Given the description of an element on the screen output the (x, y) to click on. 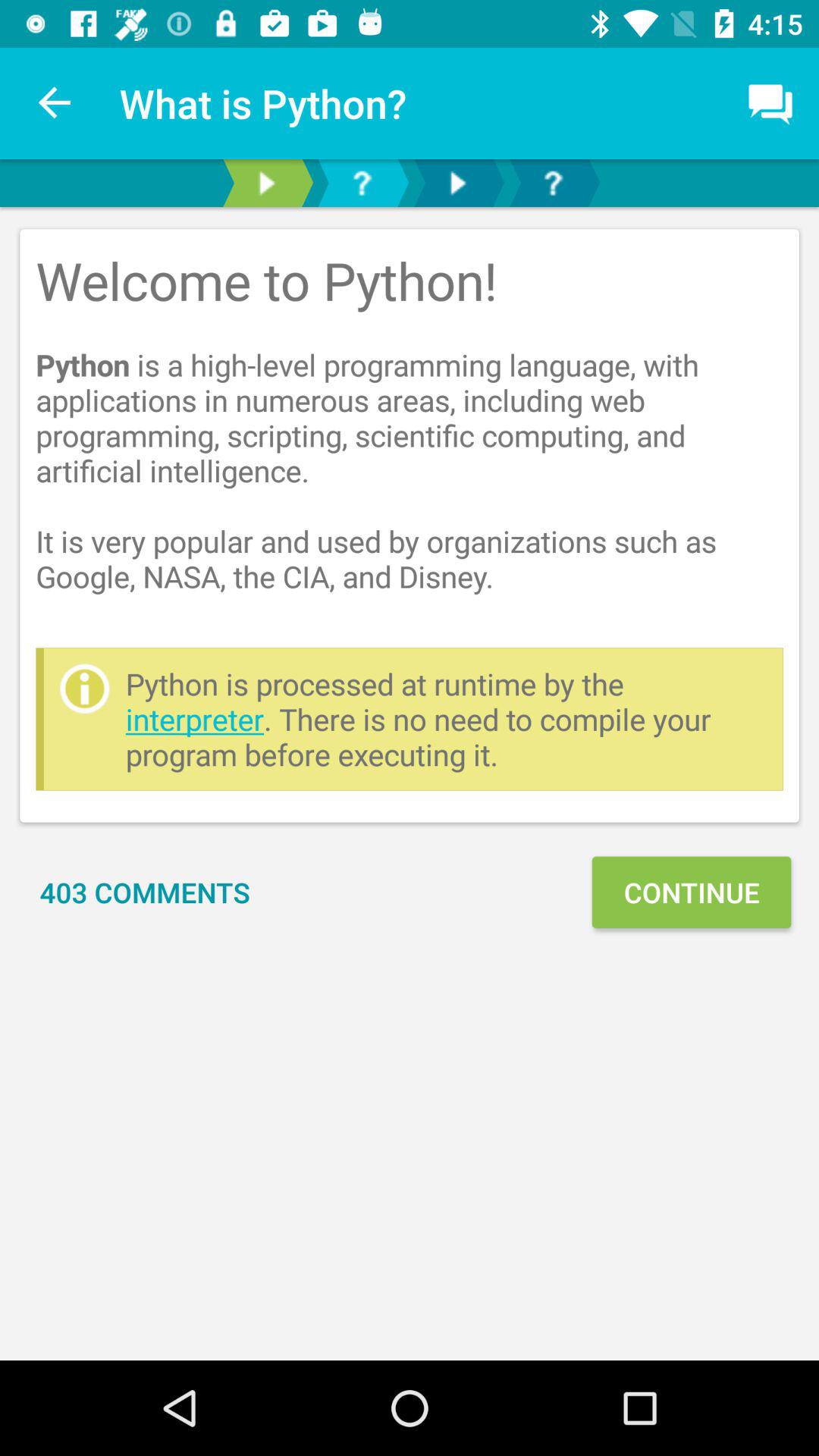
go to next (265, 183)
